Given the description of an element on the screen output the (x, y) to click on. 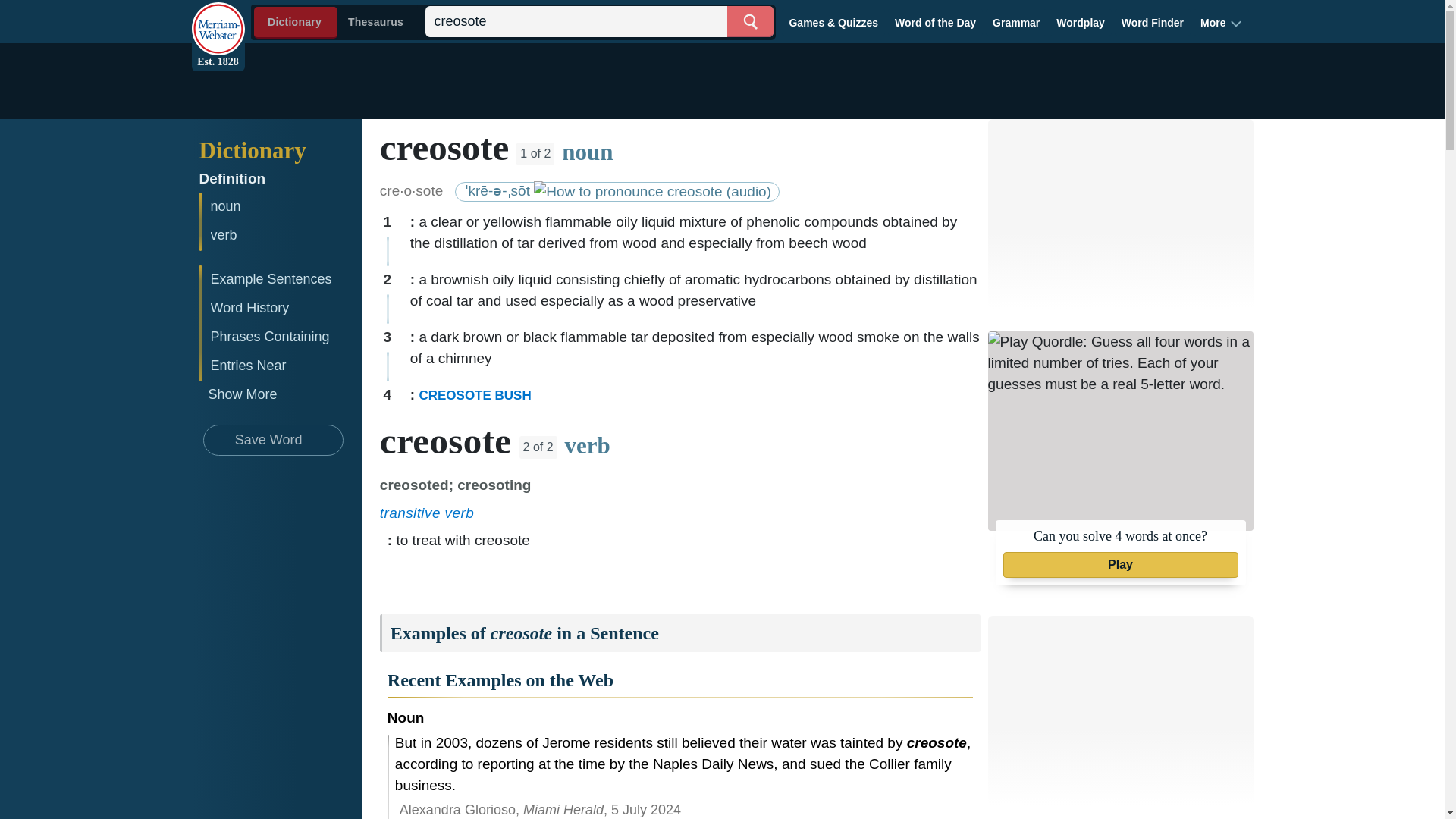
Word History (280, 308)
Word of the Day (935, 22)
Wordplay (1080, 22)
Grammar (1015, 22)
Example Sentences (280, 279)
Dictionary (283, 150)
creosote (599, 20)
More (1220, 22)
verb (280, 235)
Phrases Containing (280, 337)
